Given the description of an element on the screen output the (x, y) to click on. 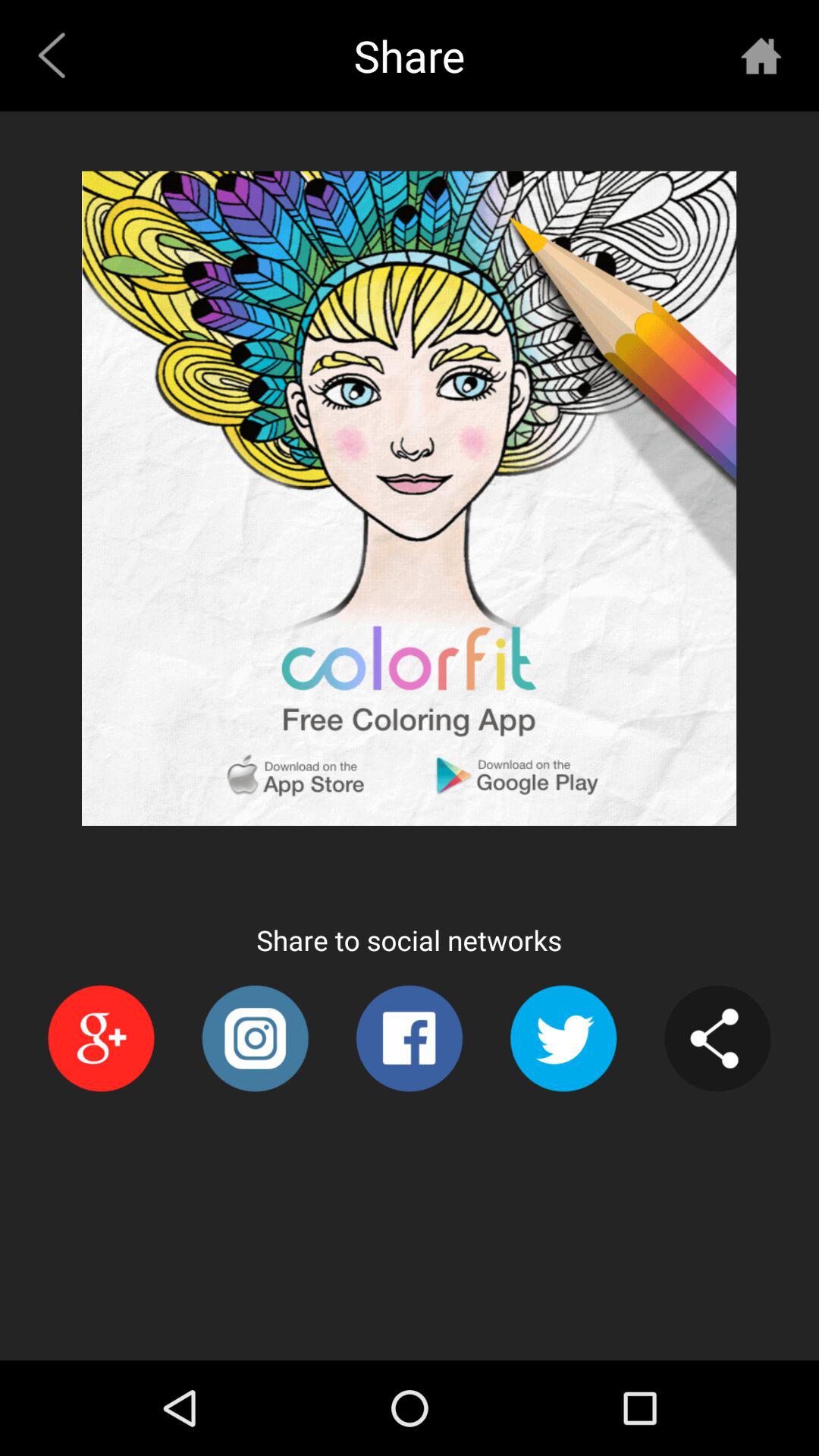
camera (255, 1038)
